Given the description of an element on the screen output the (x, y) to click on. 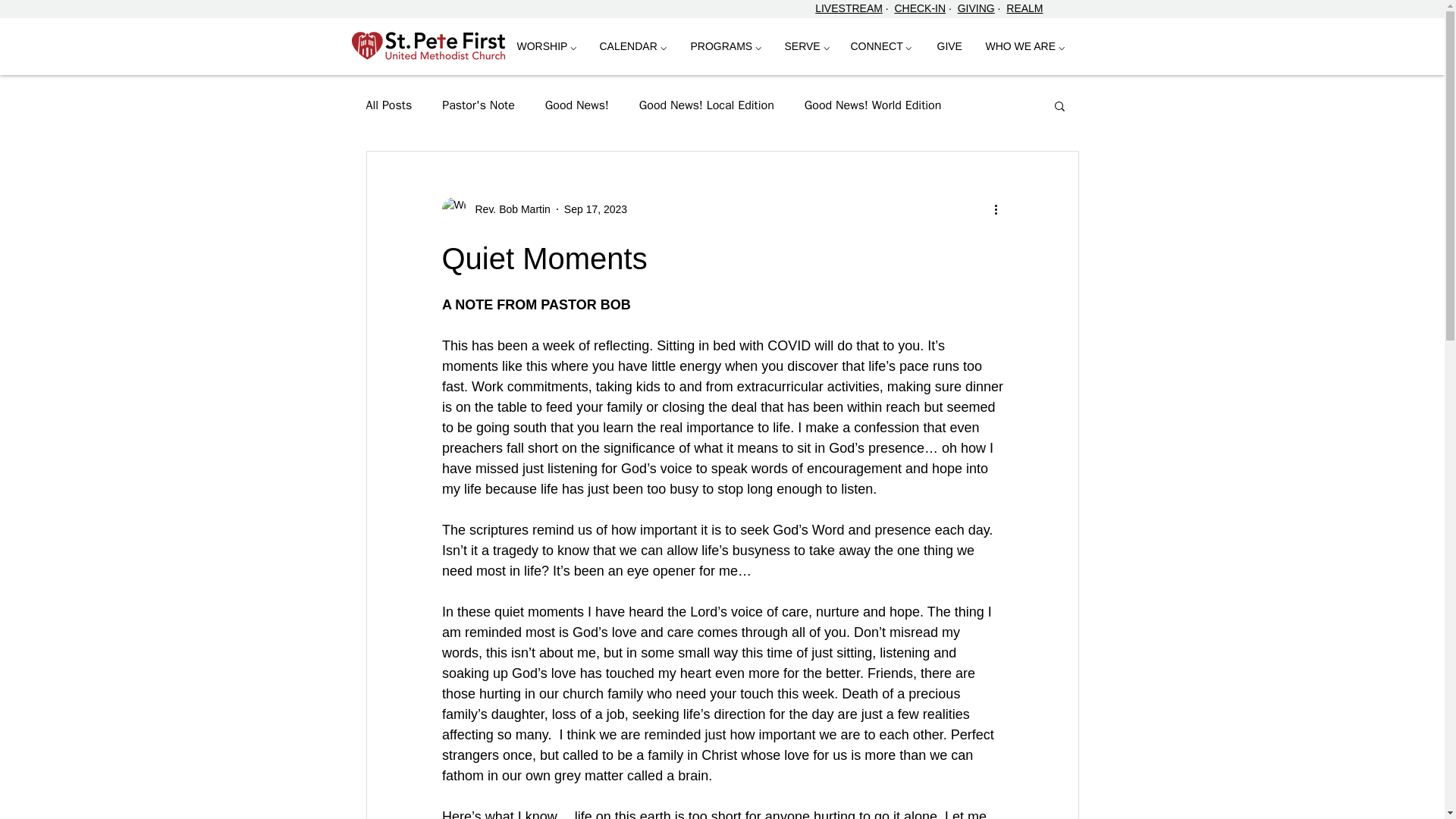
CHECK-IN (918, 8)
REALM (1024, 8)
StPeteFirst-Heart-web.png (428, 44)
Sep 17, 2023 (595, 209)
LIVESTREAM (848, 8)
GIVING (976, 8)
Rev. Bob Martin (507, 209)
